Given the description of an element on the screen output the (x, y) to click on. 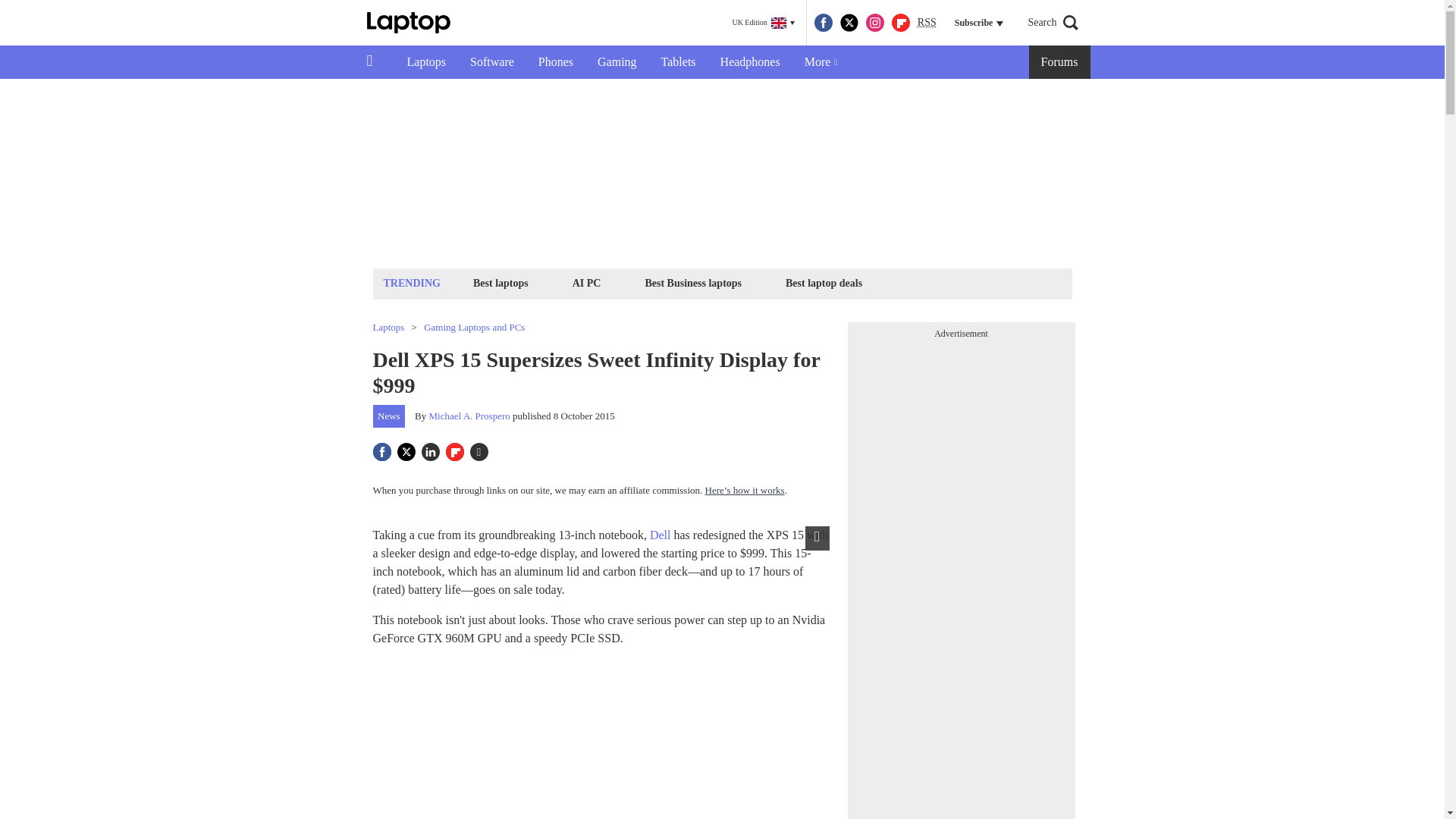
Forums (1059, 61)
Best laptops (500, 282)
UK Edition (762, 22)
Software (491, 61)
RSS (926, 22)
Gaming (617, 61)
Headphones (749, 61)
Phones (555, 61)
AI PC (587, 282)
Best laptop deals (823, 282)
